Given the description of an element on the screen output the (x, y) to click on. 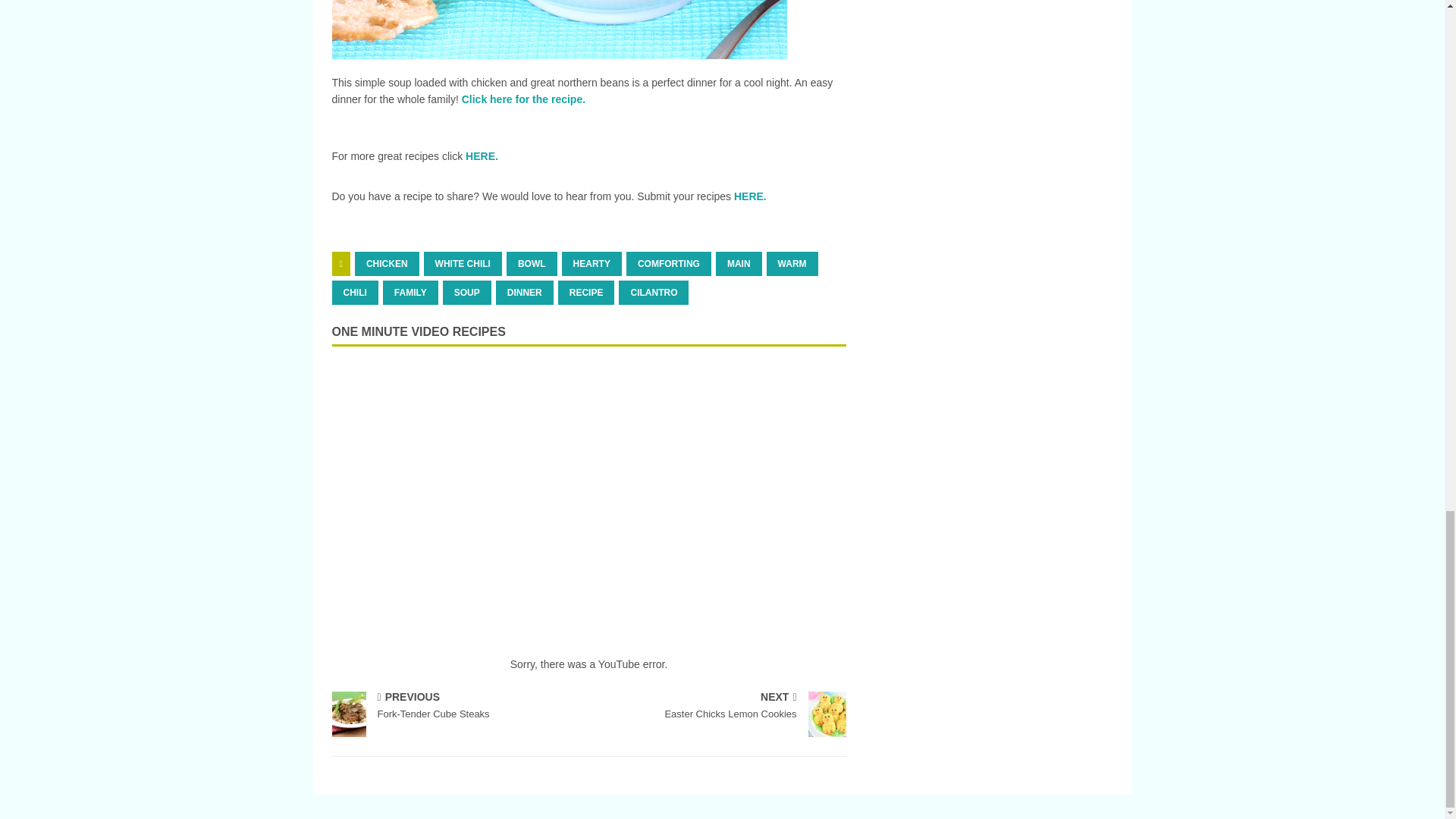
HEARTY (591, 263)
Click here for the recipe. (523, 99)
BOWL (531, 263)
HERE. (481, 155)
WHITE CHILI (462, 263)
HERE. (750, 196)
CHICKEN (387, 263)
